Given the description of an element on the screen output the (x, y) to click on. 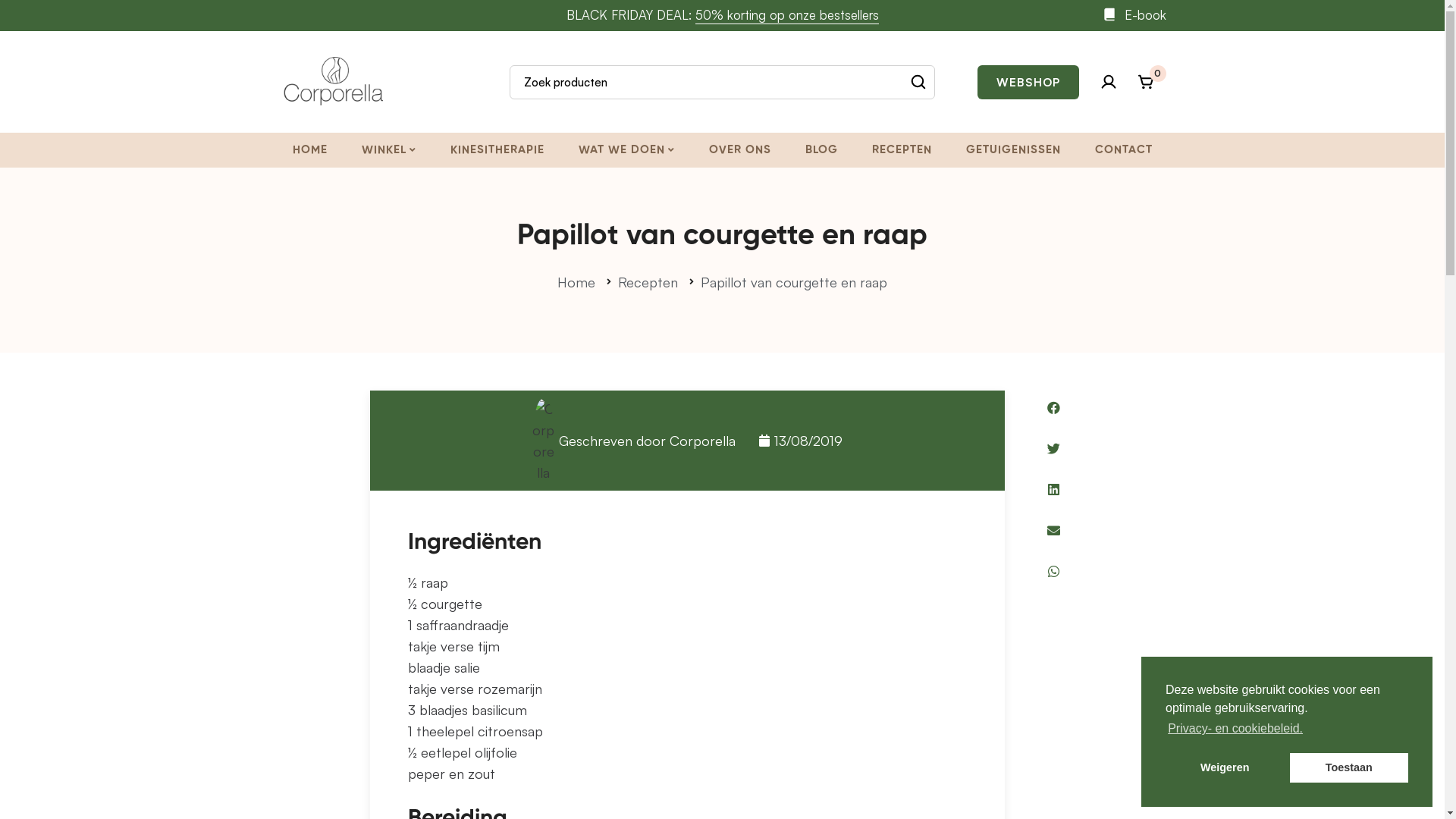
GETUIGENISSEN Element type: text (1013, 149)
BLOG Element type: text (821, 149)
WAT WE DOEN Element type: text (625, 149)
Privacy- en cookiebeleid. Element type: text (1235, 728)
Pas korting toe Element type: text (721, 462)
OVER ONS Element type: text (739, 149)
KINESITHERAPIE Element type: text (497, 149)
WINKEL Element type: text (387, 149)
CONTACT Element type: text (1123, 149)
Zoeken: Element type: hover (722, 82)
WEBSHOP Element type: text (1027, 82)
50% korting op onze bestsellers Element type: text (786, 14)
Toestaan Element type: text (1348, 767)
E-book Element type: text (1133, 14)
0 Element type: text (1145, 81)
Weigeren Element type: text (1224, 767)
RECEPTEN Element type: text (901, 149)
HOME Element type: text (309, 149)
Home Element type: text (576, 281)
Recepten Element type: text (647, 281)
